Given the description of an element on the screen output the (x, y) to click on. 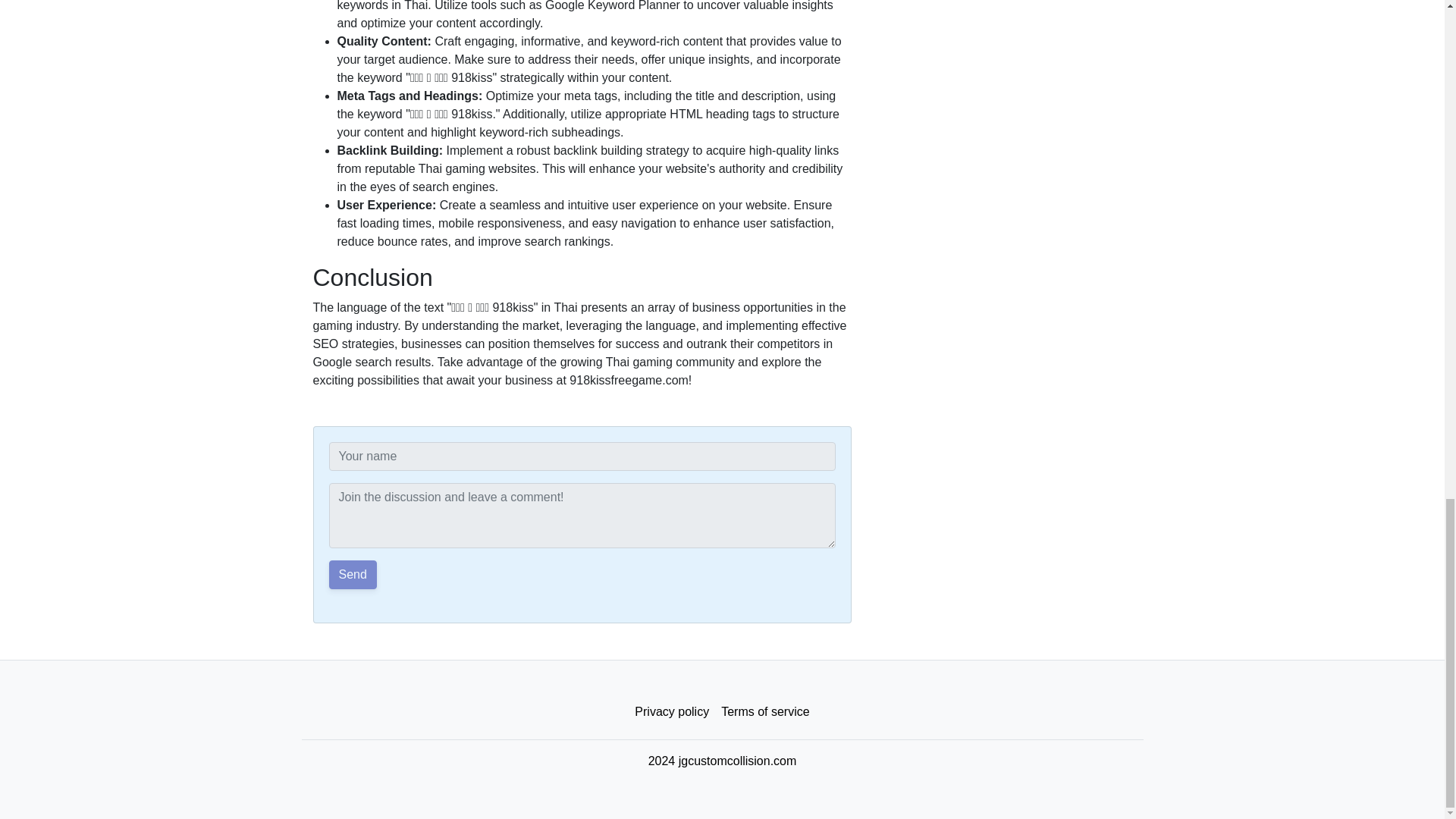
Terms of service (764, 711)
Privacy policy (671, 711)
Send (353, 574)
Send (353, 574)
